Given the description of an element on the screen output the (x, y) to click on. 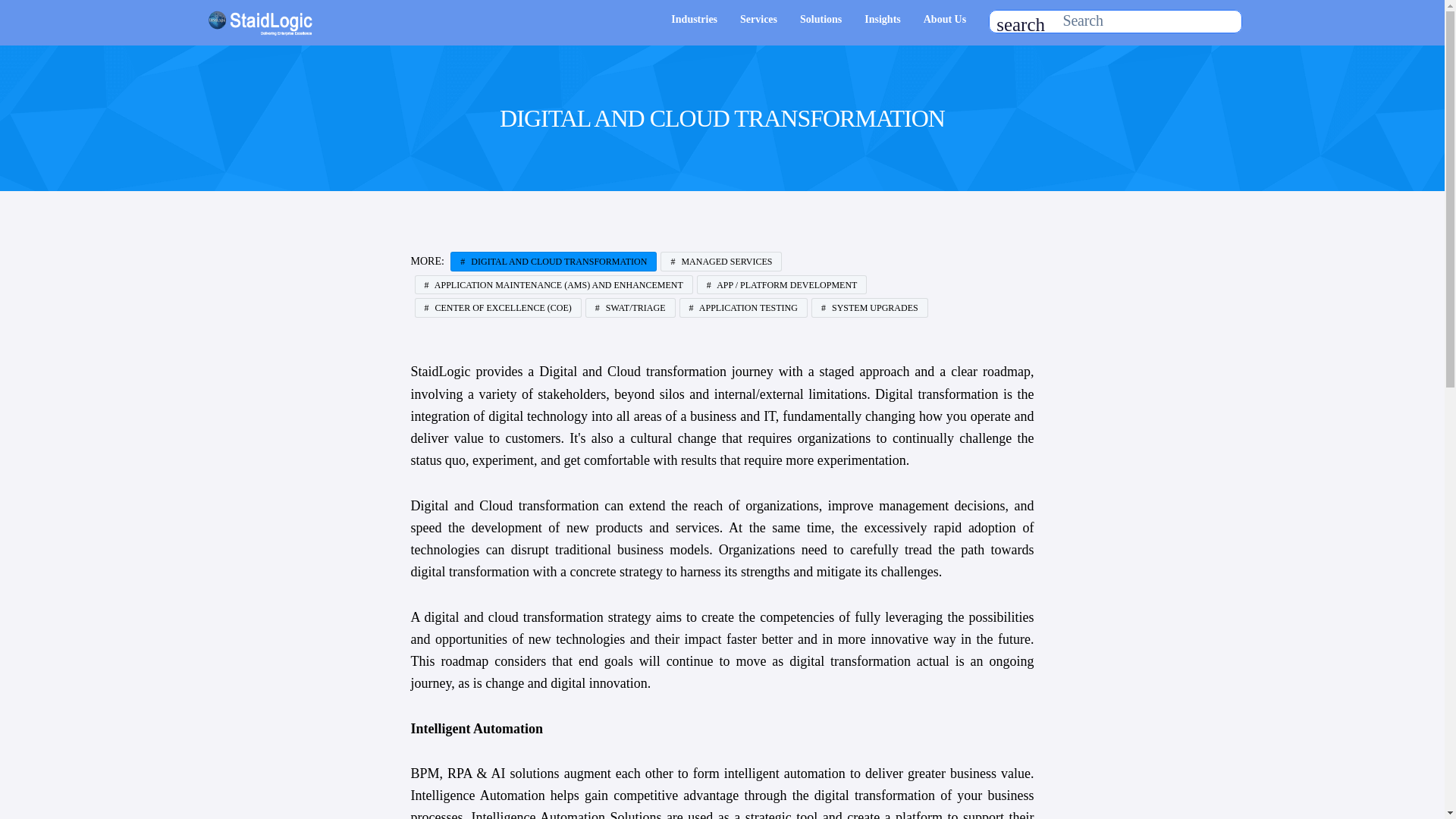
Insights (881, 19)
search (1020, 24)
Solutions (820, 19)
Services (758, 19)
Industries (694, 19)
About Us (944, 19)
